Given the description of an element on the screen output the (x, y) to click on. 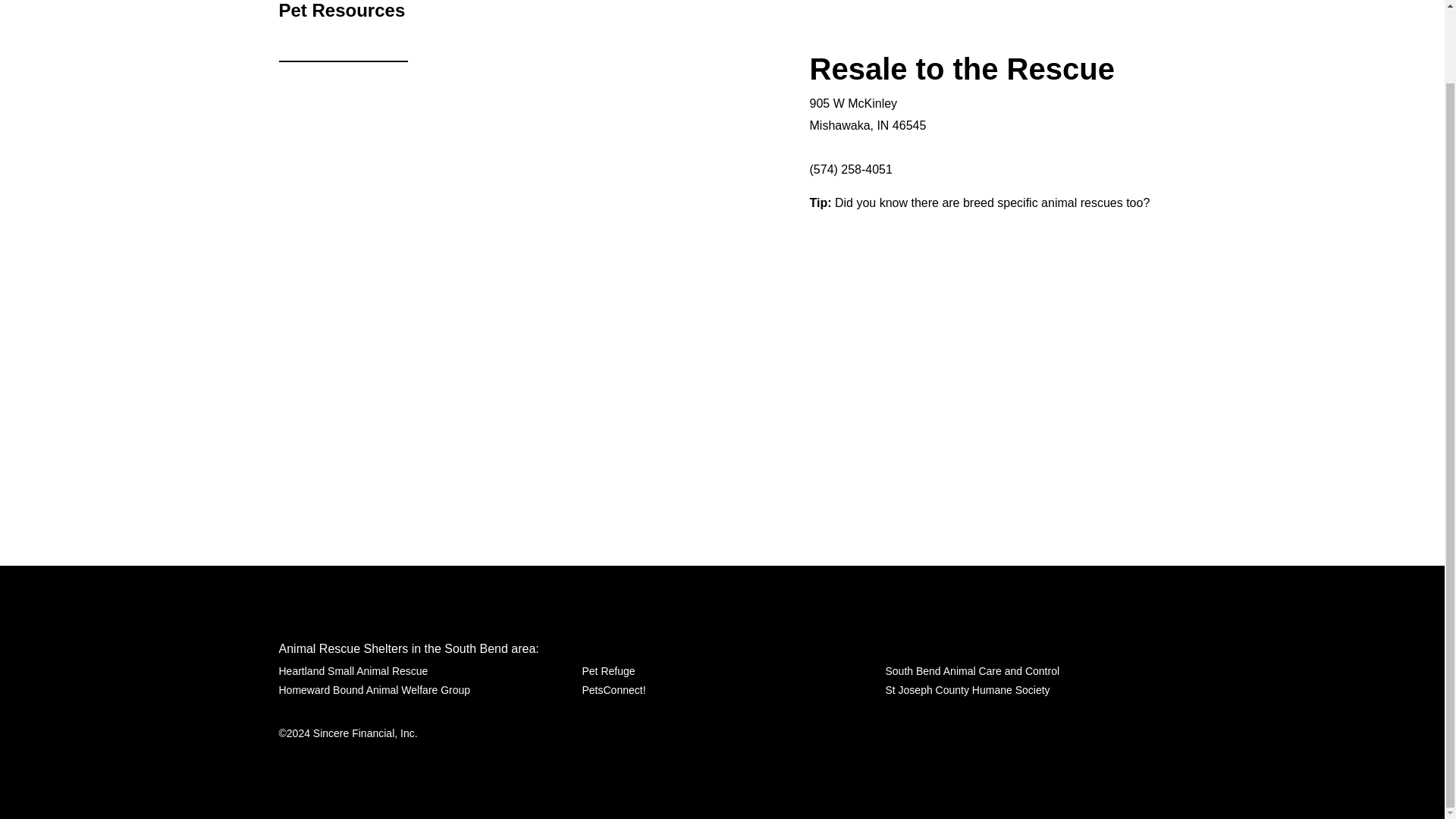
PetsConnect! (612, 690)
Homeward Bound Animal Welfare Group (374, 690)
Animal Rescue Shelters in the South Bend area: (408, 648)
St Joseph County Humane Society (967, 690)
South Bend Animal Care and Control (972, 670)
Pet Resources (342, 13)
Pet Refuge (607, 670)
Heartland Small Animal Rescue (353, 670)
